Given the description of an element on the screen output the (x, y) to click on. 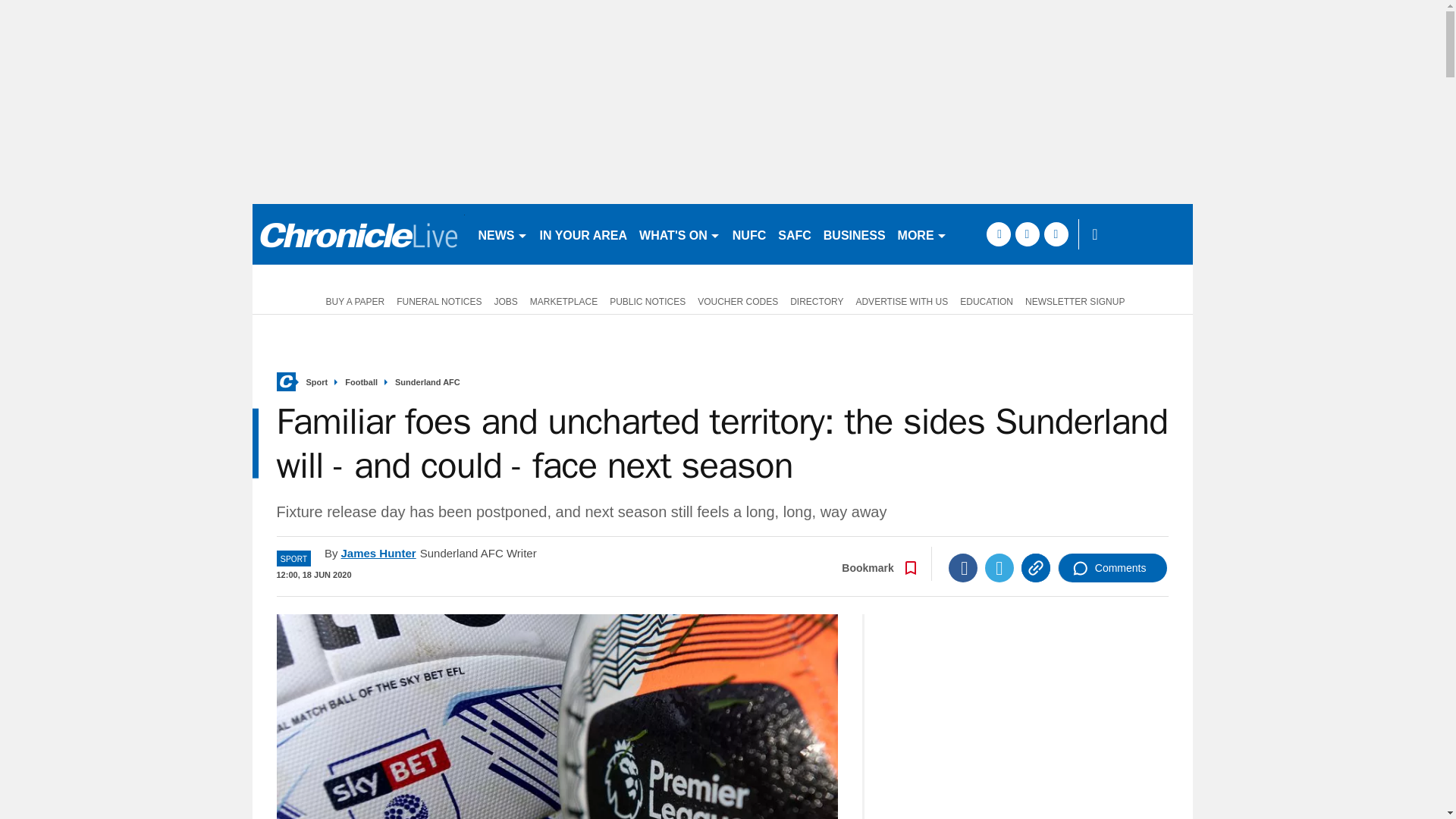
Twitter (999, 567)
WHAT'S ON (679, 233)
Comments (1112, 567)
IN YOUR AREA (583, 233)
BUSINESS (853, 233)
instagram (1055, 233)
NEWS (501, 233)
Facebook (962, 567)
nechronicle (357, 233)
facebook (997, 233)
